Given the description of an element on the screen output the (x, y) to click on. 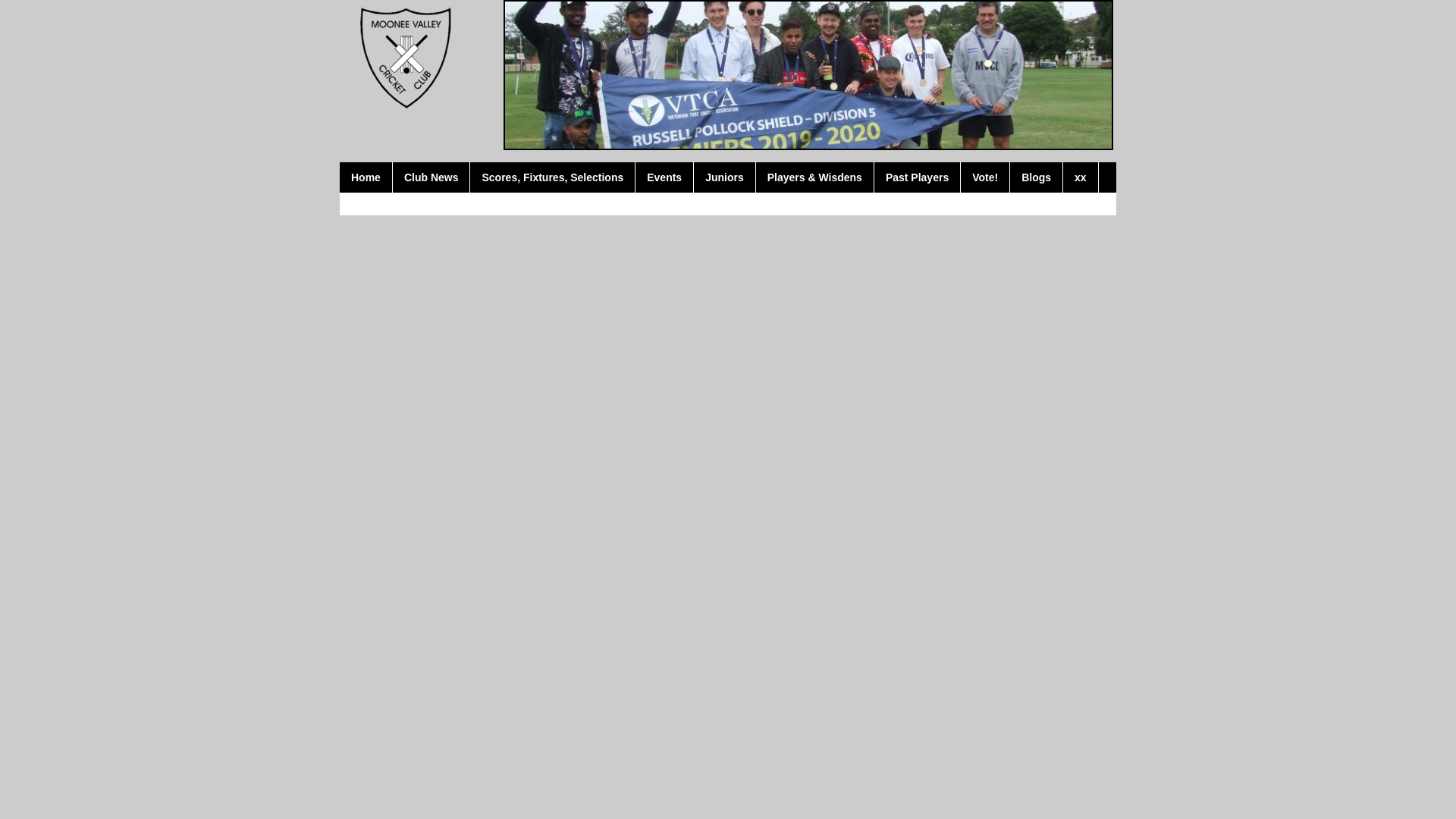
Blogs Element type: text (1036, 177)
Vote! Element type: text (985, 177)
Players & Wisdens Element type: text (815, 177)
xx Element type: text (1080, 177)
Home Element type: text (365, 177)
Events Element type: text (664, 177)
Scores, Fixtures, Selections Element type: text (552, 177)
Juniors Element type: text (724, 177)
Moonee Valley Cricket Club Element type: hover (403, 55)
Past Players Element type: text (917, 177)
Club News Element type: text (431, 177)
